Given the description of an element on the screen output the (x, y) to click on. 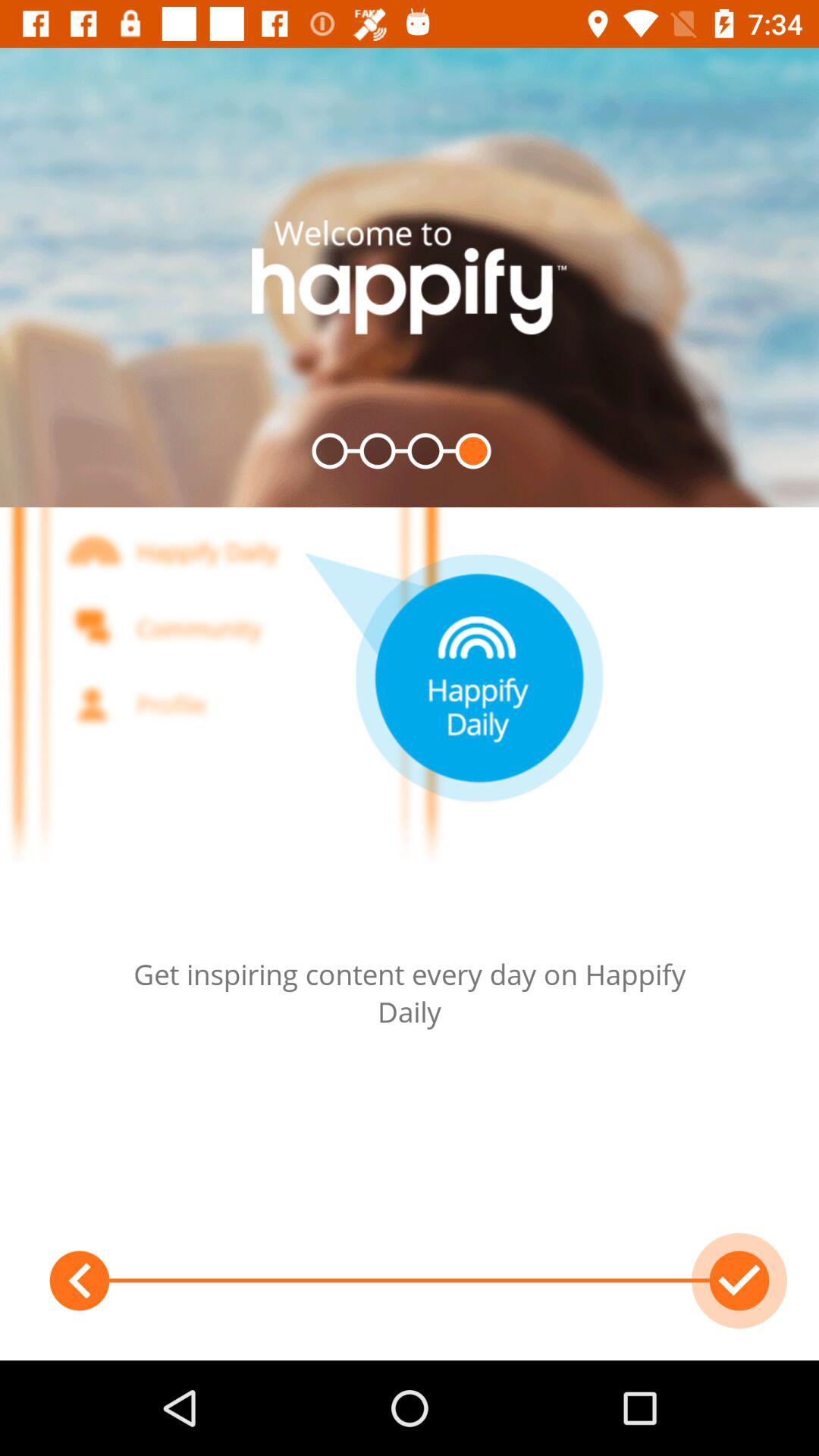
mark task completed (739, 1280)
